Given the description of an element on the screen output the (x, y) to click on. 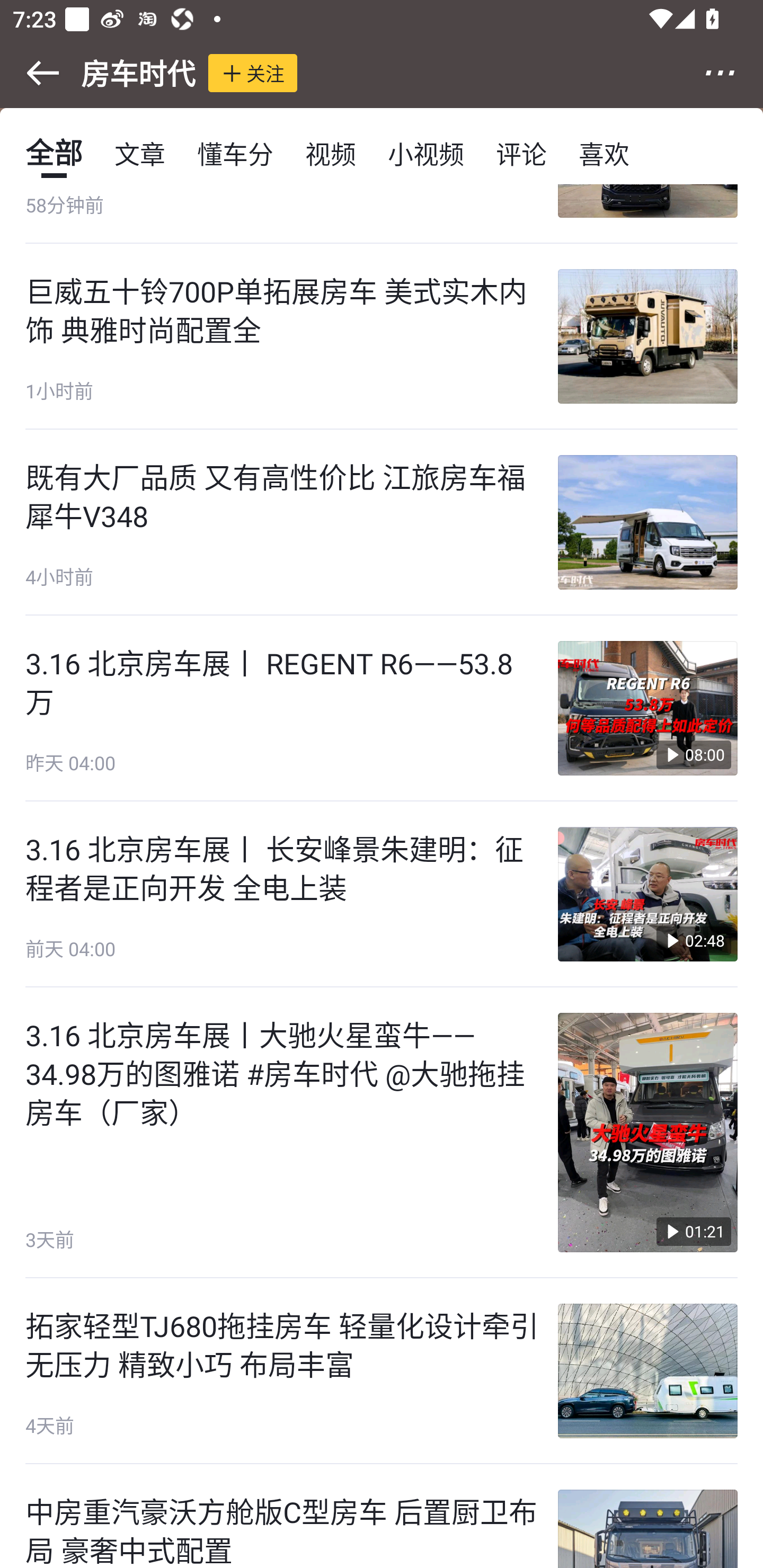
 (30, 72)
 (732, 72)
 关注 (252, 72)
全部 (53, 152)
文章 (139, 152)
懂车分 (234, 152)
视频 (330, 152)
小视频 (425, 152)
评论 (521, 152)
喜欢 (603, 152)
巨威五十铃700P单拓展房车 美式实木内饰 典雅时尚配置全 1小时前 (381, 336)
既有大厂品质 又有高性价比 江旅房车福犀牛V348 4小时前 (381, 522)
3.16 北京房车展丨 REGENT R6——53.8万 昨天 04:00  08:00 (381, 708)
3.16 北京房车展丨 长安峰景朱建明：征程者是正向开发 全电上装 前天 04:00  02:48 (381, 894)
3.16 北京房车展丨大驰火星蛮牛——34.98万的图雅诺 #房车时代 @大驰拖挂房车（厂家） (281, 1072)
拓家轻型TJ680拖挂房车 轻量化设计牵引无压力 精致小巧 布局丰富 4天前 (381, 1370)
中房重汽豪沃方舱版C型房车 后置厨卫布局 豪奢中式配置 (381, 1516)
